Given the description of an element on the screen output the (x, y) to click on. 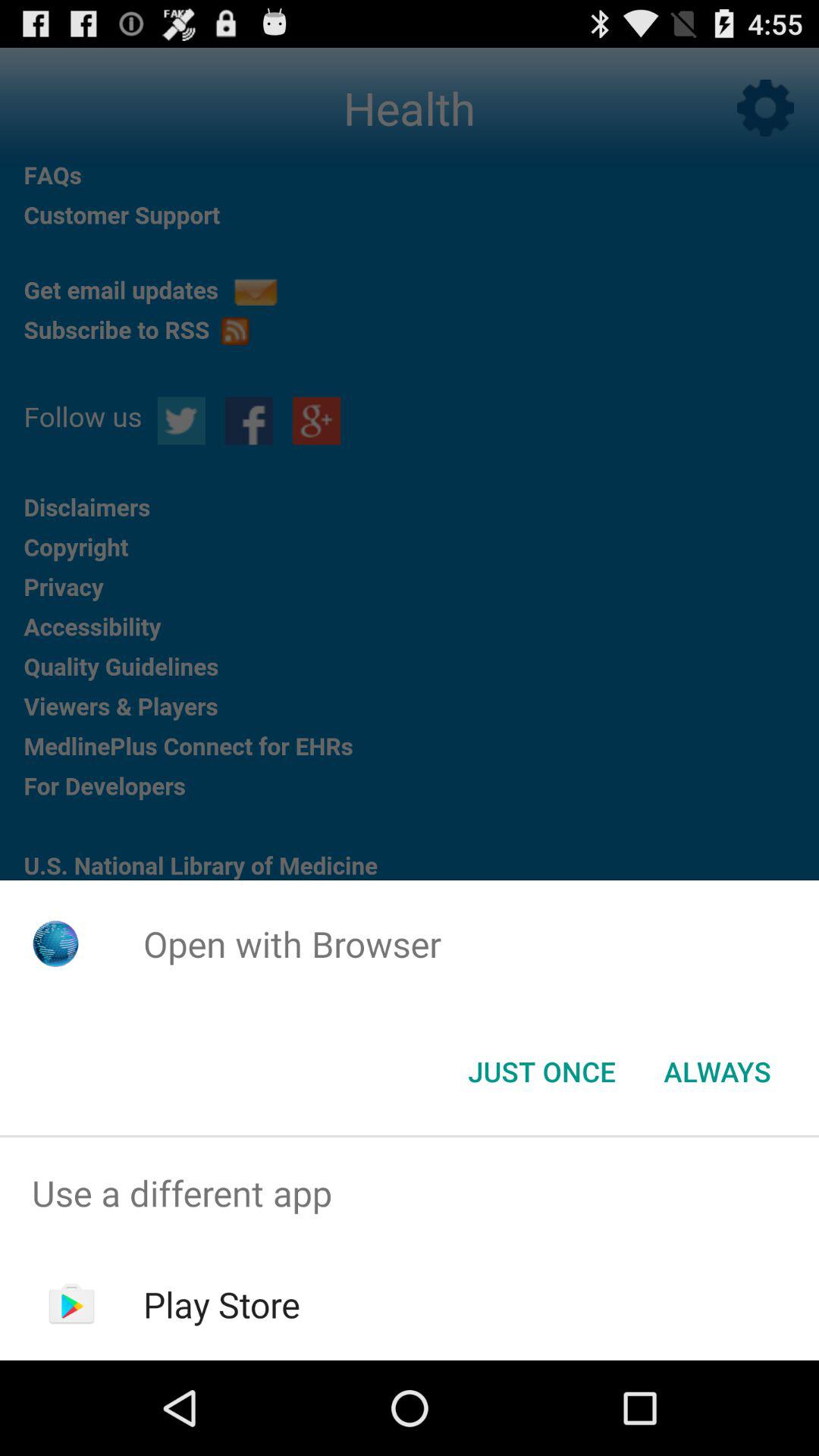
swipe to play store (221, 1304)
